Given the description of an element on the screen output the (x, y) to click on. 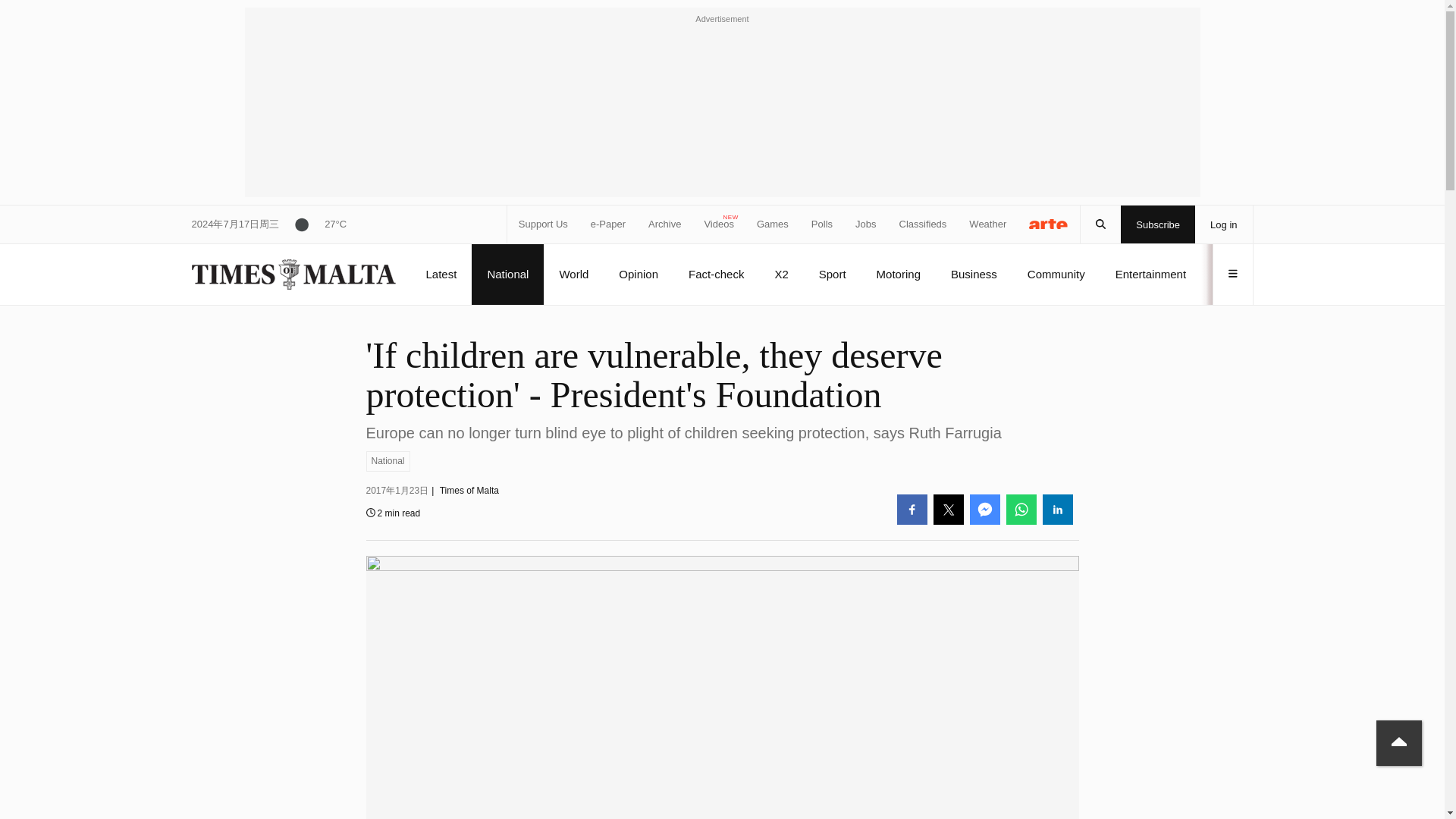
Motoring (898, 274)
Sport (831, 274)
Additional weather information (312, 224)
National (387, 461)
Opinion (638, 274)
e-Paper (608, 224)
Fact-check (716, 274)
Business (973, 274)
Log in (1223, 224)
Latest (441, 274)
Support Us (542, 224)
Archive (664, 224)
Weather (987, 224)
Tech (1227, 274)
